Given the description of an element on the screen output the (x, y) to click on. 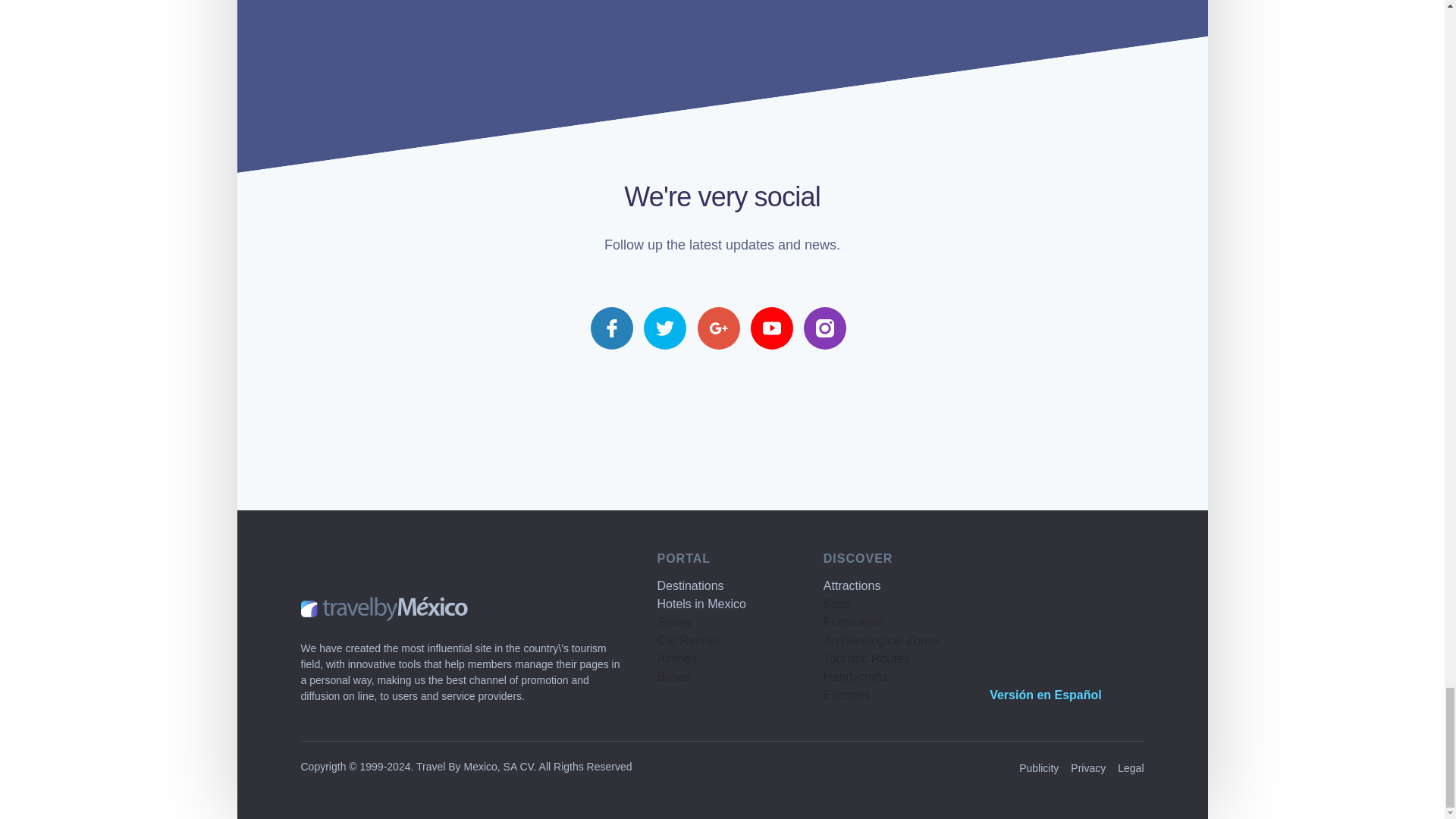
Travel by Mexico on Facebook (612, 328)
